Given the description of an element on the screen output the (x, y) to click on. 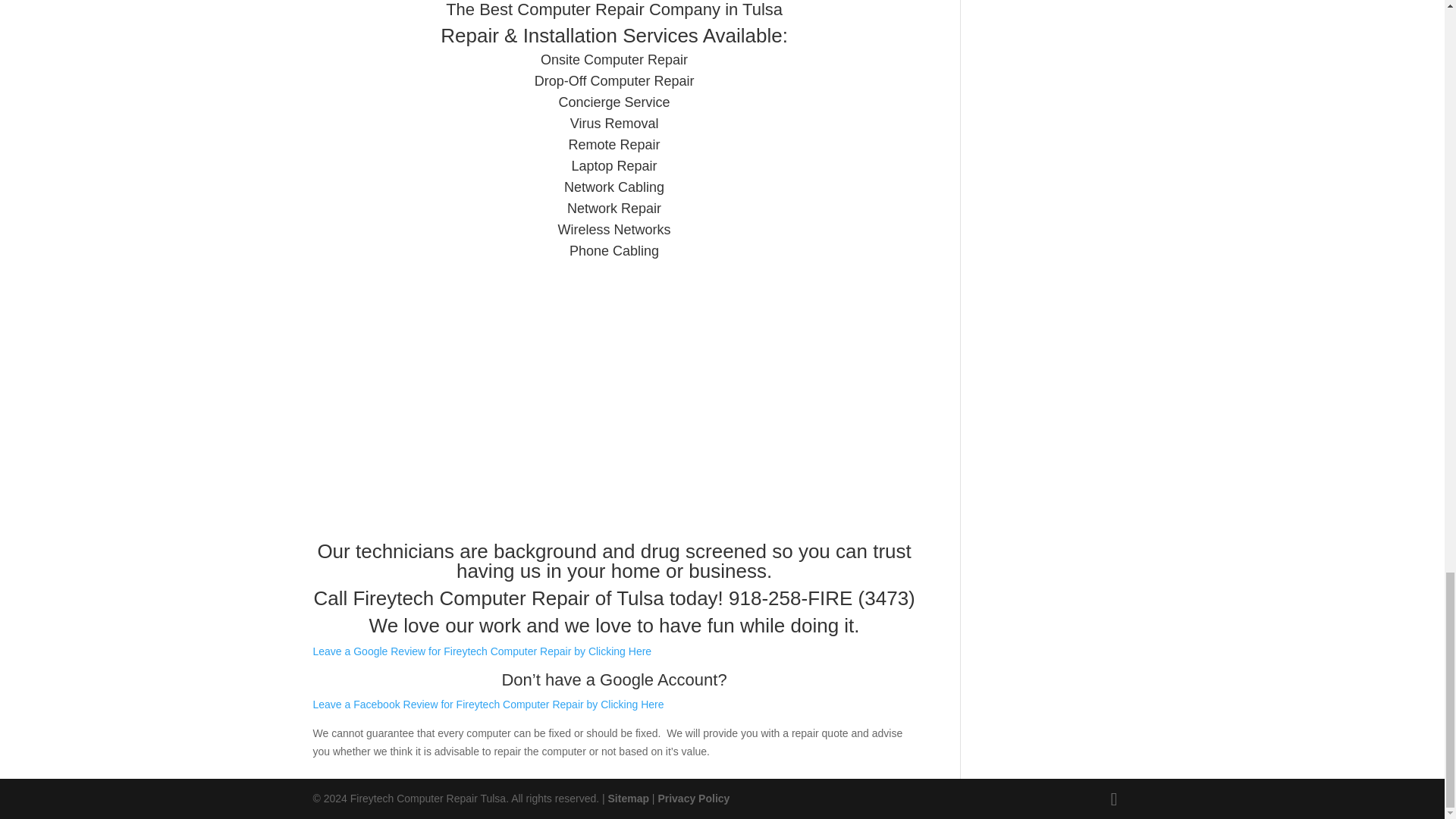
Privacy Policy (693, 798)
Sitemap (628, 798)
